Given the description of an element on the screen output the (x, y) to click on. 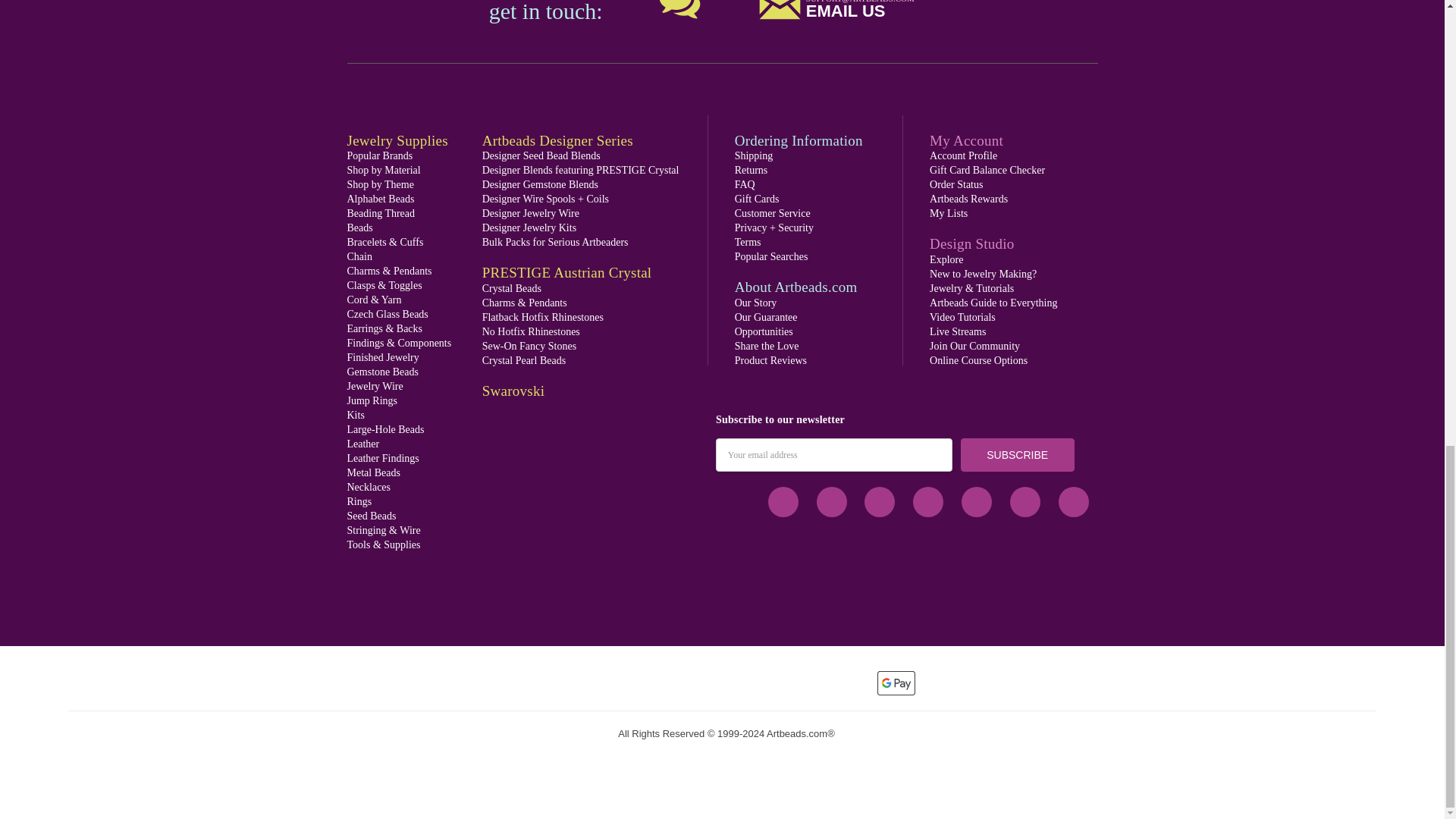
Subscribe (1017, 455)
